Given the description of an element on the screen output the (x, y) to click on. 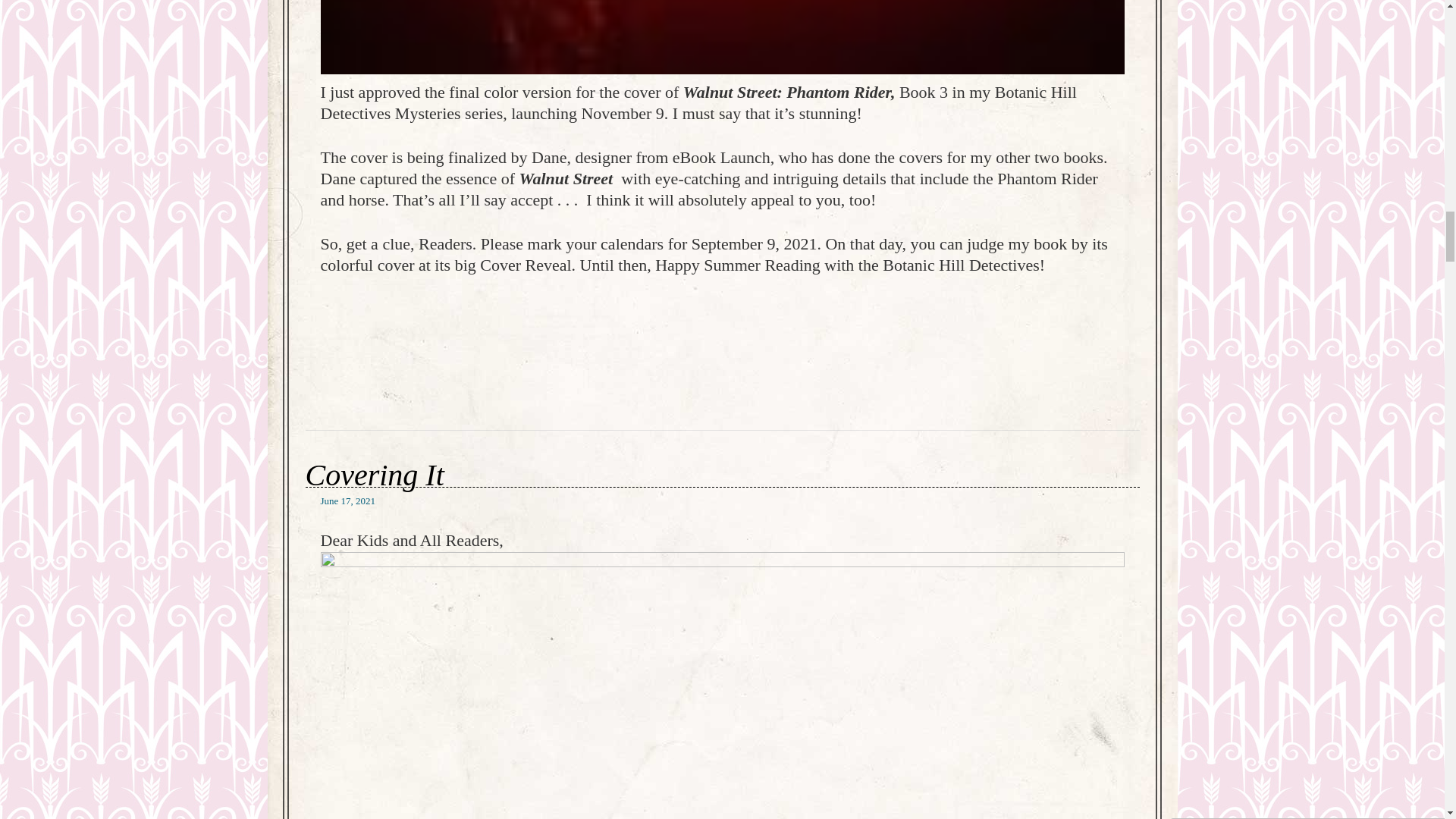
June 17, 2021 (347, 500)
Covering It (374, 475)
Covering It (374, 475)
5:34 pm (347, 500)
